Given the description of an element on the screen output the (x, y) to click on. 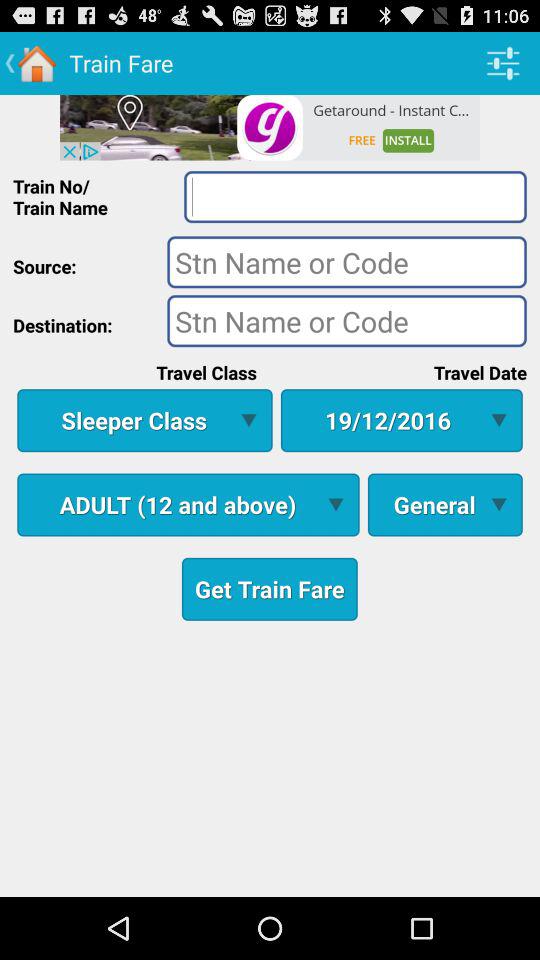
enter source search (346, 261)
